Given the description of an element on the screen output the (x, y) to click on. 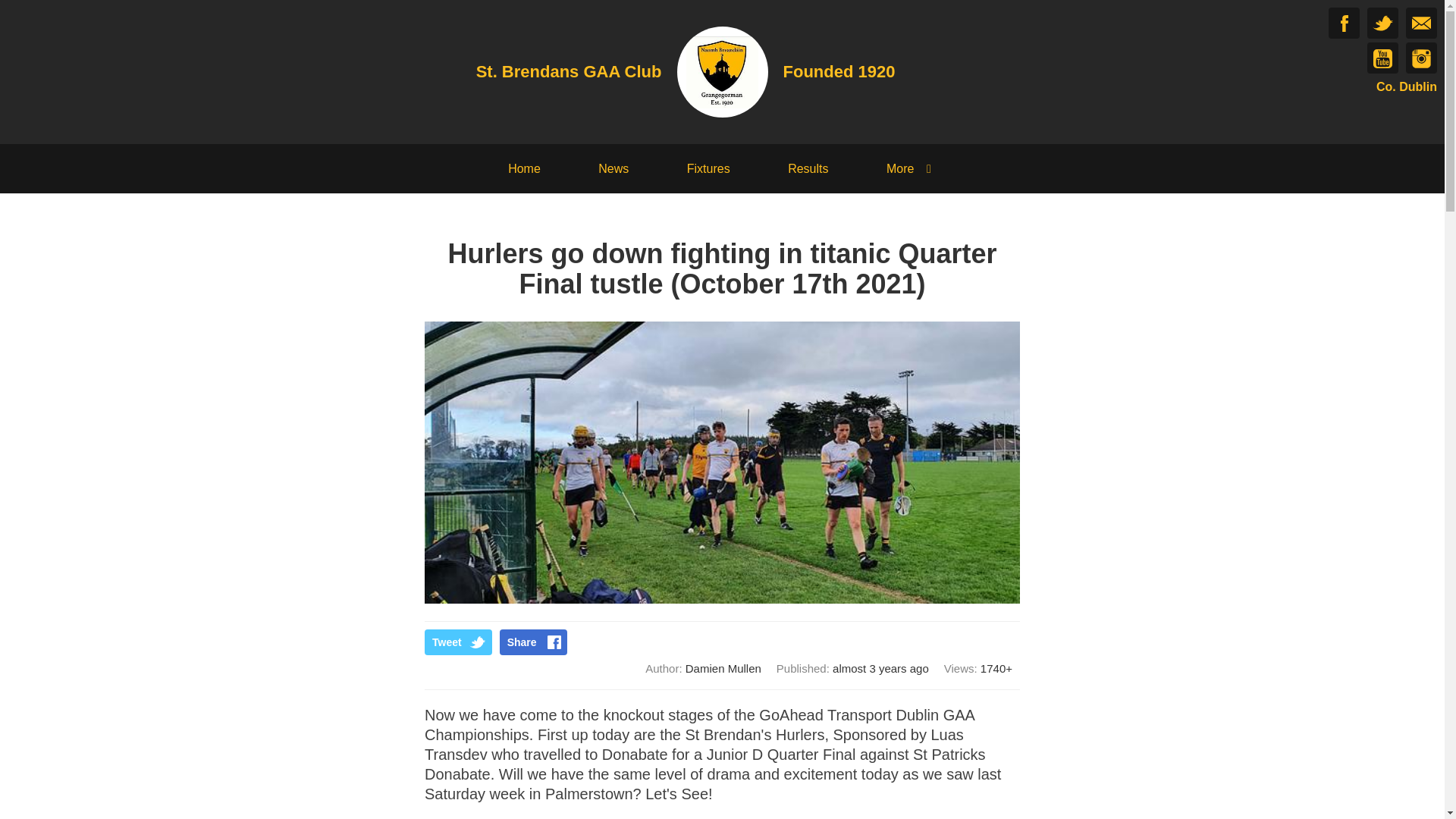
Twitter (1382, 22)
Email (1421, 22)
Results (807, 168)
Instagram (1421, 57)
Home (523, 168)
News (612, 168)
More (911, 168)
Fixtures (707, 168)
YouTube (1382, 57)
Facebook (1343, 22)
